Given the description of an element on the screen output the (x, y) to click on. 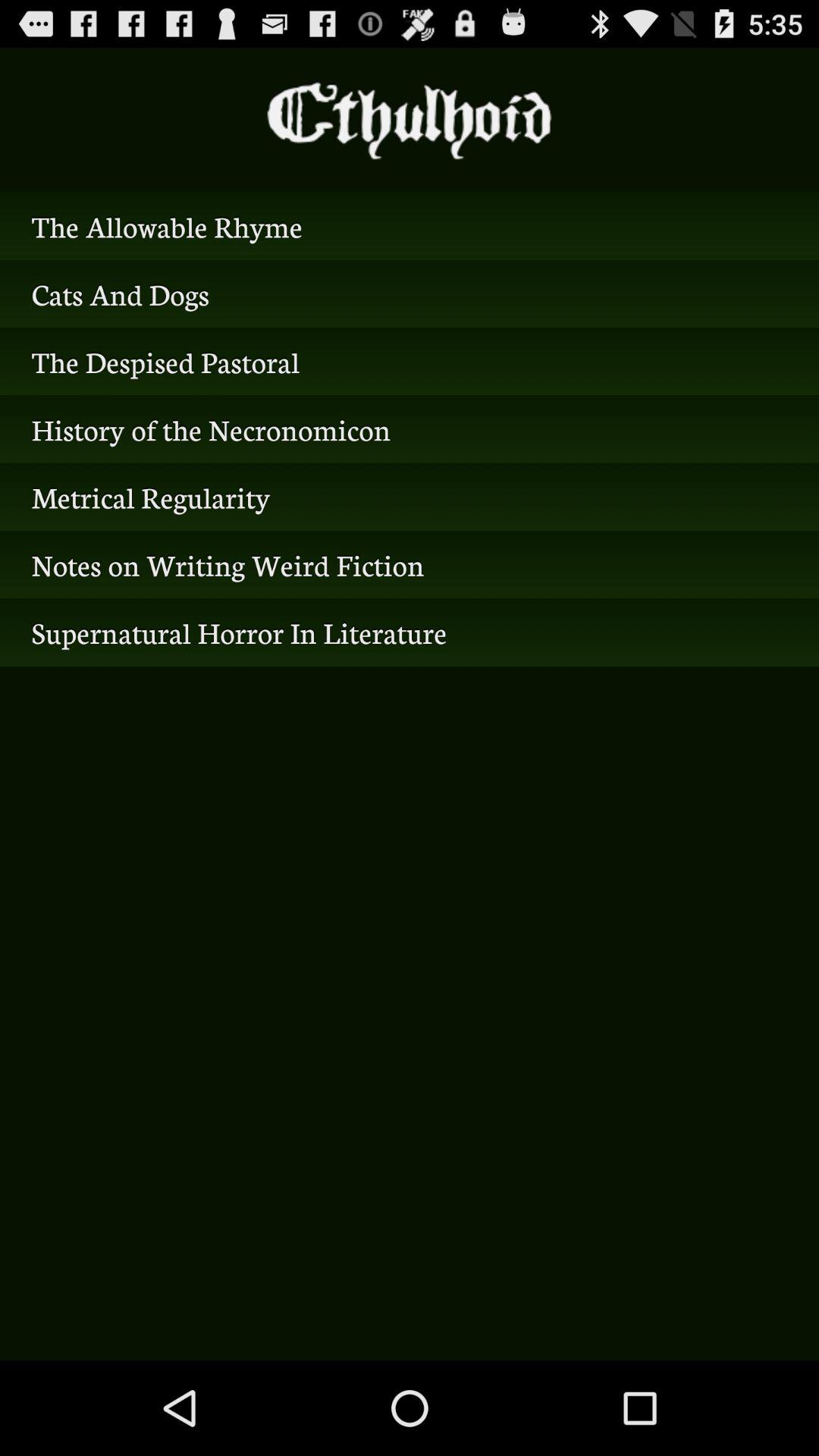
click icon below the metrical regularity (409, 564)
